Given the description of an element on the screen output the (x, y) to click on. 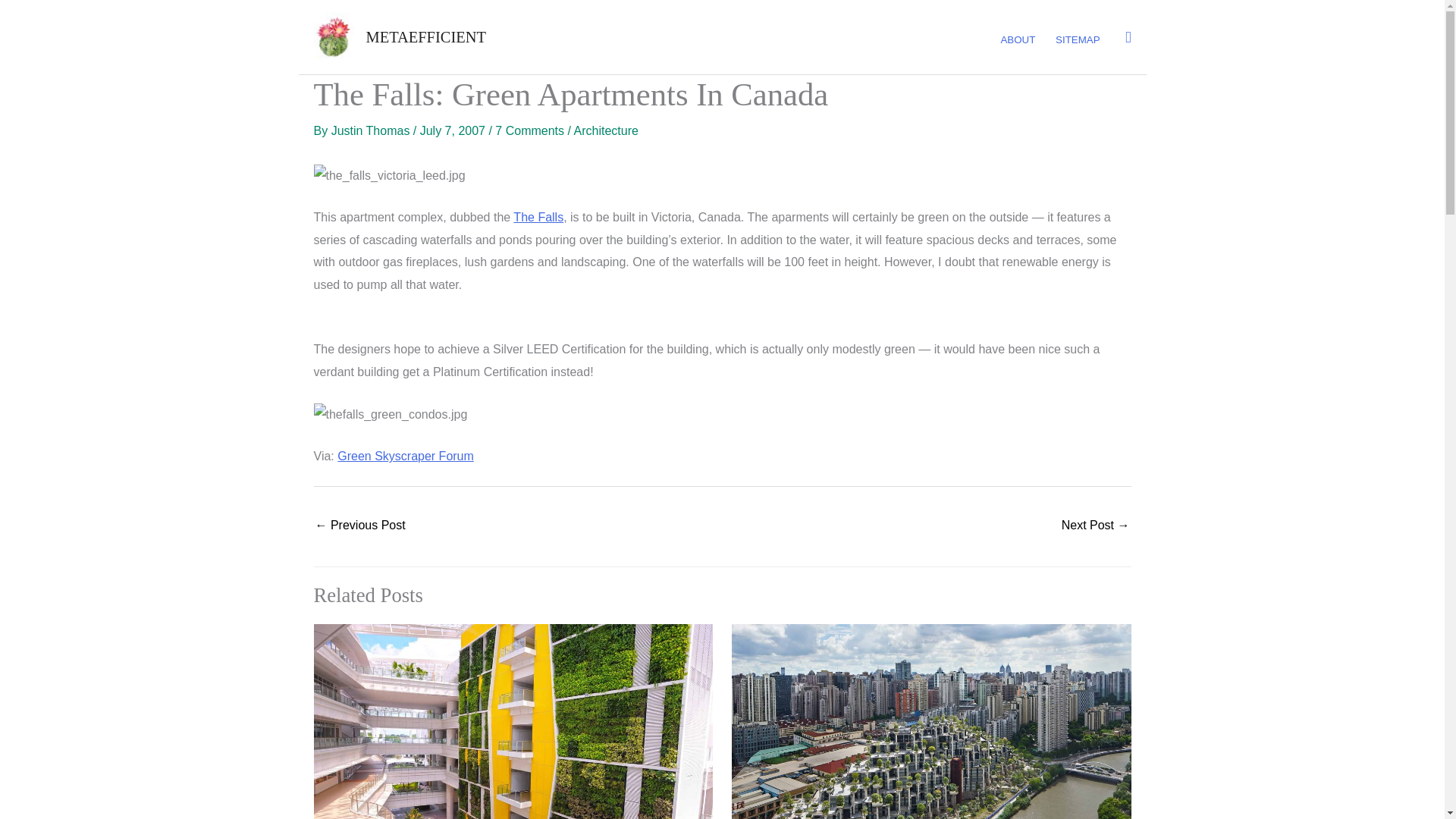
7 Comments (529, 130)
METAEFFICIENT (424, 36)
Architecture (606, 130)
Green Skyscraper Forum (405, 455)
Justin Thomas (372, 130)
View all posts by Justin Thomas (372, 130)
All Buses Rides Are Free In Hasselt (1095, 526)
ABOUT (1017, 40)
The Falls (538, 216)
SITEMAP (1077, 40)
